Given the description of an element on the screen output the (x, y) to click on. 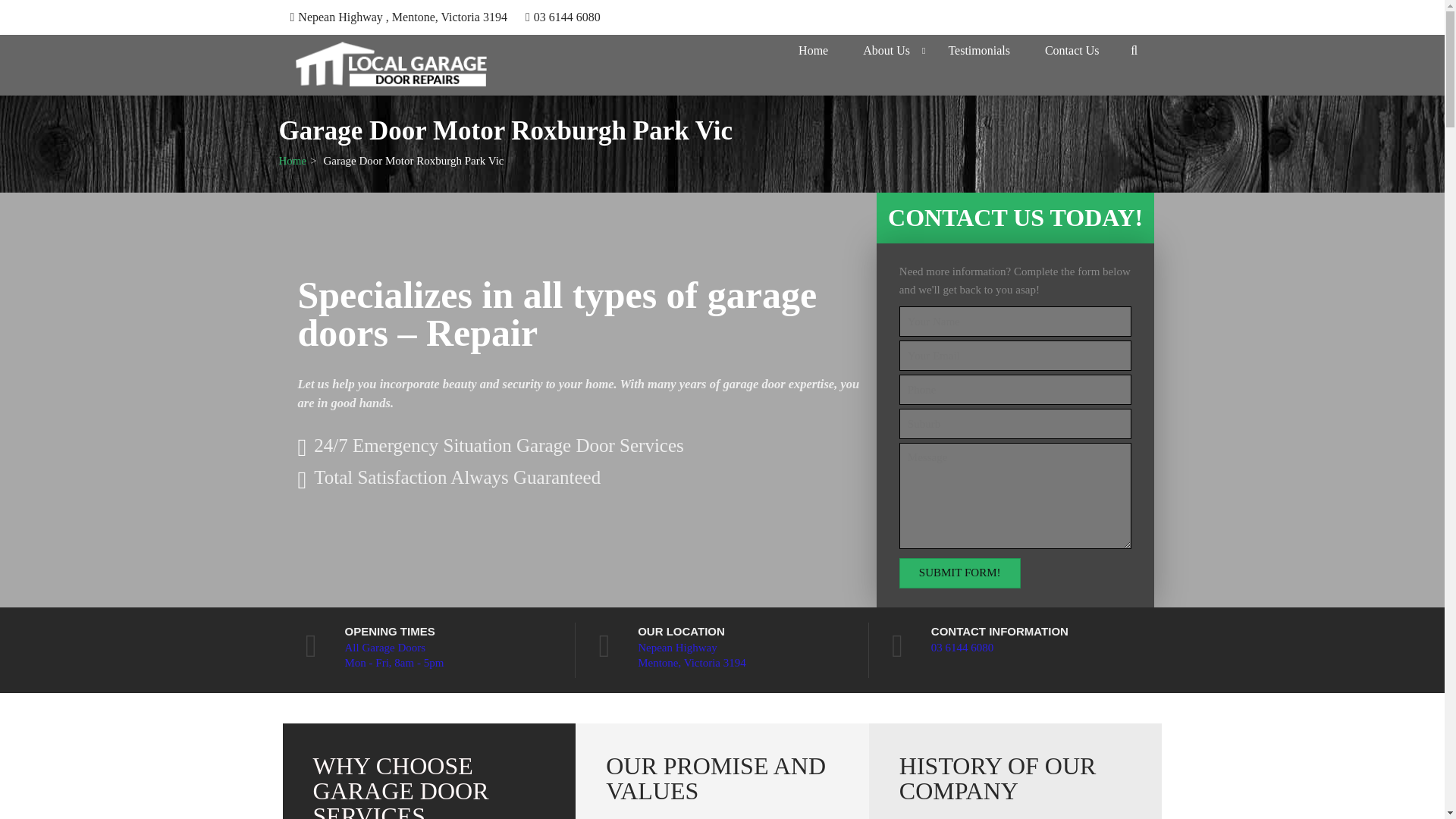
Testimonials (979, 50)
Home (293, 160)
03 6144 6080 (566, 16)
Contact Us (1072, 50)
About Us (885, 50)
Testimonials (979, 50)
Home (293, 160)
Home (813, 50)
Contact Us (1072, 50)
SUBMIT FORM! (959, 572)
